Given the description of an element on the screen output the (x, y) to click on. 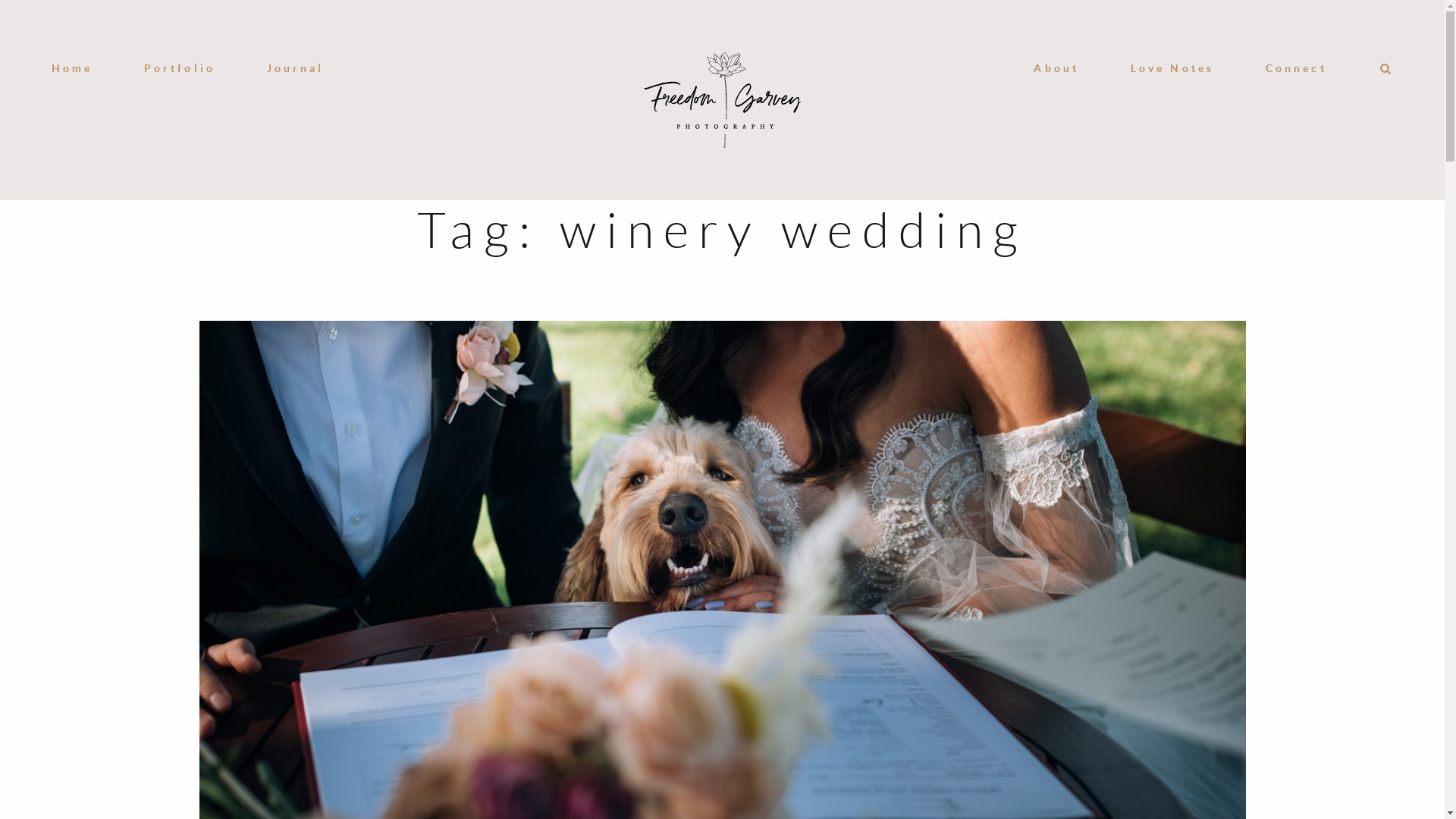
Love Notes Element type: text (1172, 67)
Home Element type: text (72, 67)
Portfolio Element type: text (179, 67)
Journal Element type: text (295, 67)
About Element type: text (1056, 67)
Connect Element type: text (1296, 67)
